Given the description of an element on the screen output the (x, y) to click on. 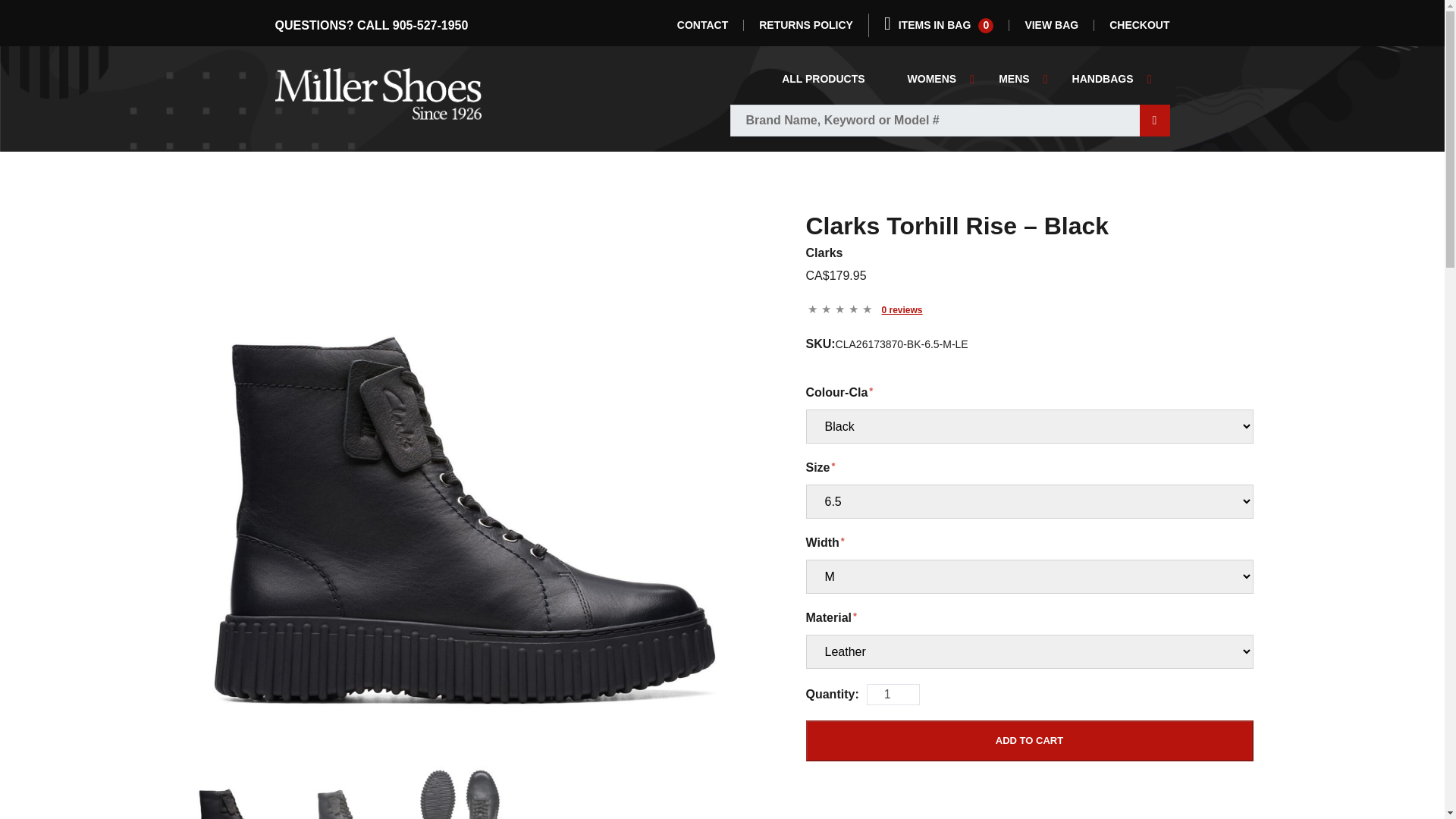
1 (937, 24)
CONTACT (893, 694)
All Products (702, 25)
Mens (823, 79)
CHECKOUT (1013, 79)
WOMENS (1139, 25)
ALL PRODUCTS (931, 79)
Womens (823, 79)
RETURNS POLICY (931, 79)
